Given the description of an element on the screen output the (x, y) to click on. 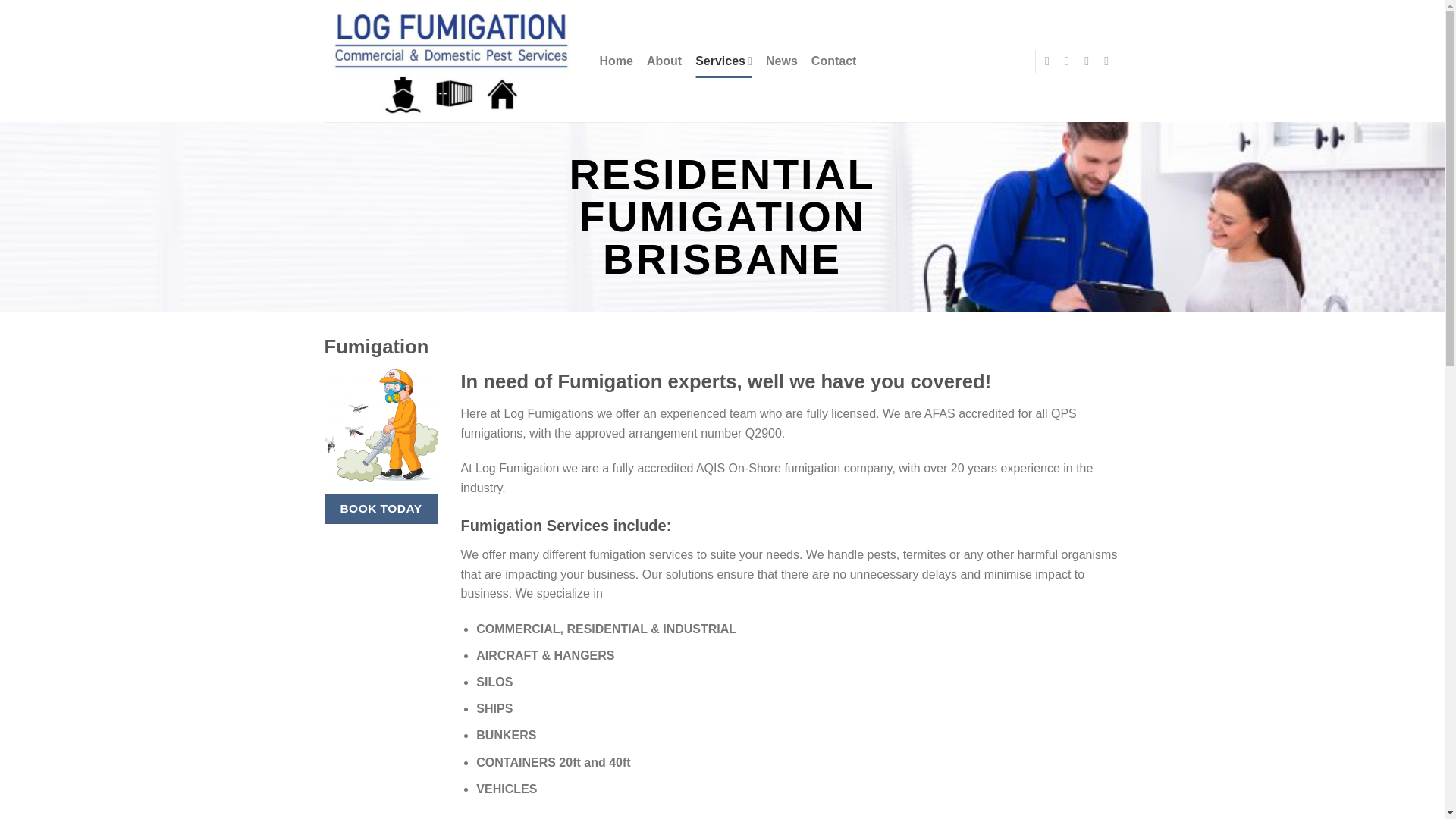
About (663, 60)
Follow on Twitter (1090, 60)
News (781, 60)
BOOK TODAY (381, 508)
Home (614, 60)
Log Fumigation - Fumigation Services (450, 60)
Contact (833, 60)
Services (723, 60)
Send us an email (1109, 60)
